Given the description of an element on the screen output the (x, y) to click on. 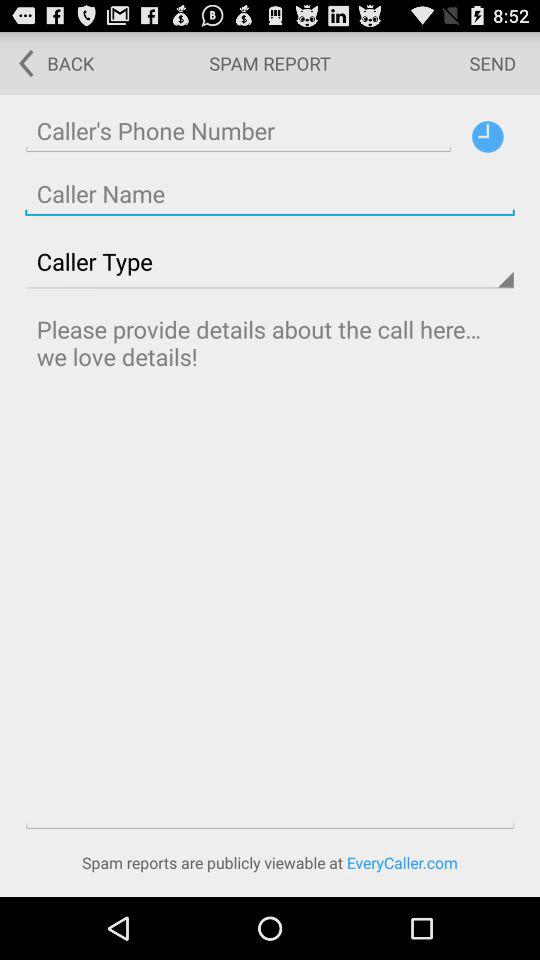
address page (270, 193)
